Given the description of an element on the screen output the (x, y) to click on. 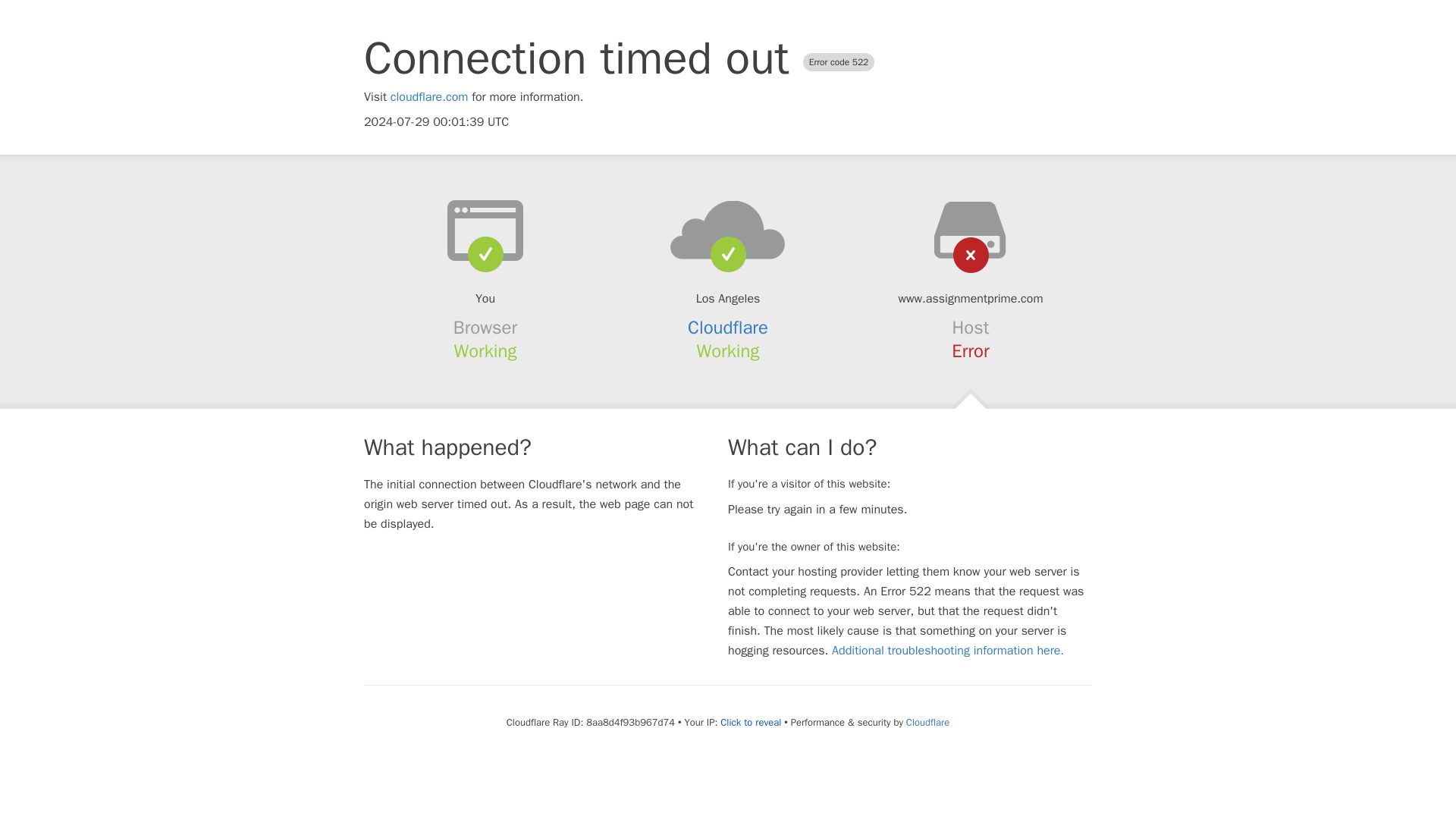
cloudflare.com (429, 96)
Additional troubleshooting information here. (947, 650)
Cloudflare (927, 721)
Cloudflare (727, 327)
Click to reveal (750, 722)
